Given the description of an element on the screen output the (x, y) to click on. 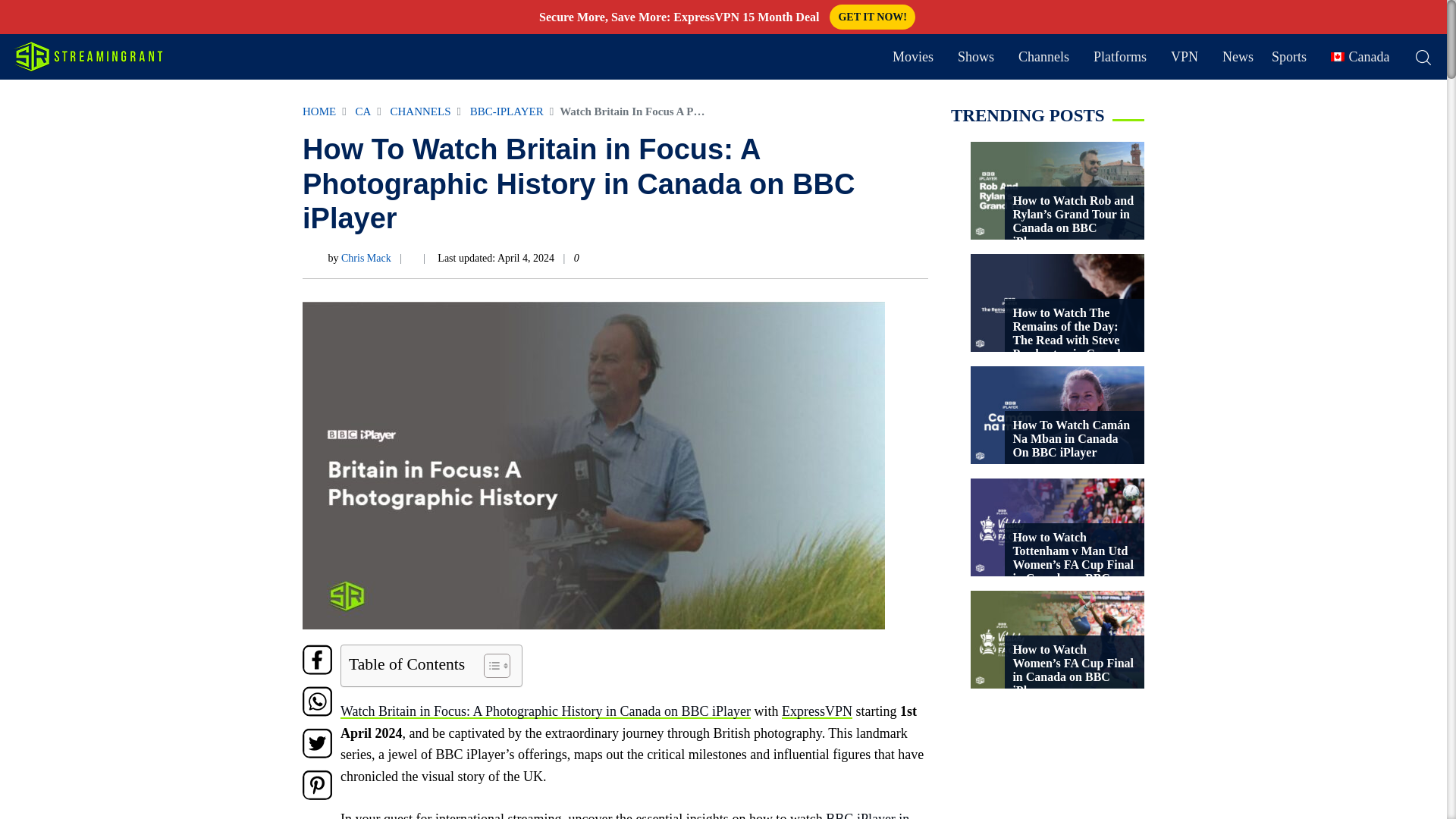
Secure More, Save More: ExpressVPN 15 Month Deal GET IT NOW! (723, 16)
Channels (1042, 56)
Canada (1359, 56)
Shows (976, 56)
Streamingrant LOGO (87, 56)
Movies (912, 56)
GET IT NOW! (872, 16)
